Given the description of an element on the screen output the (x, y) to click on. 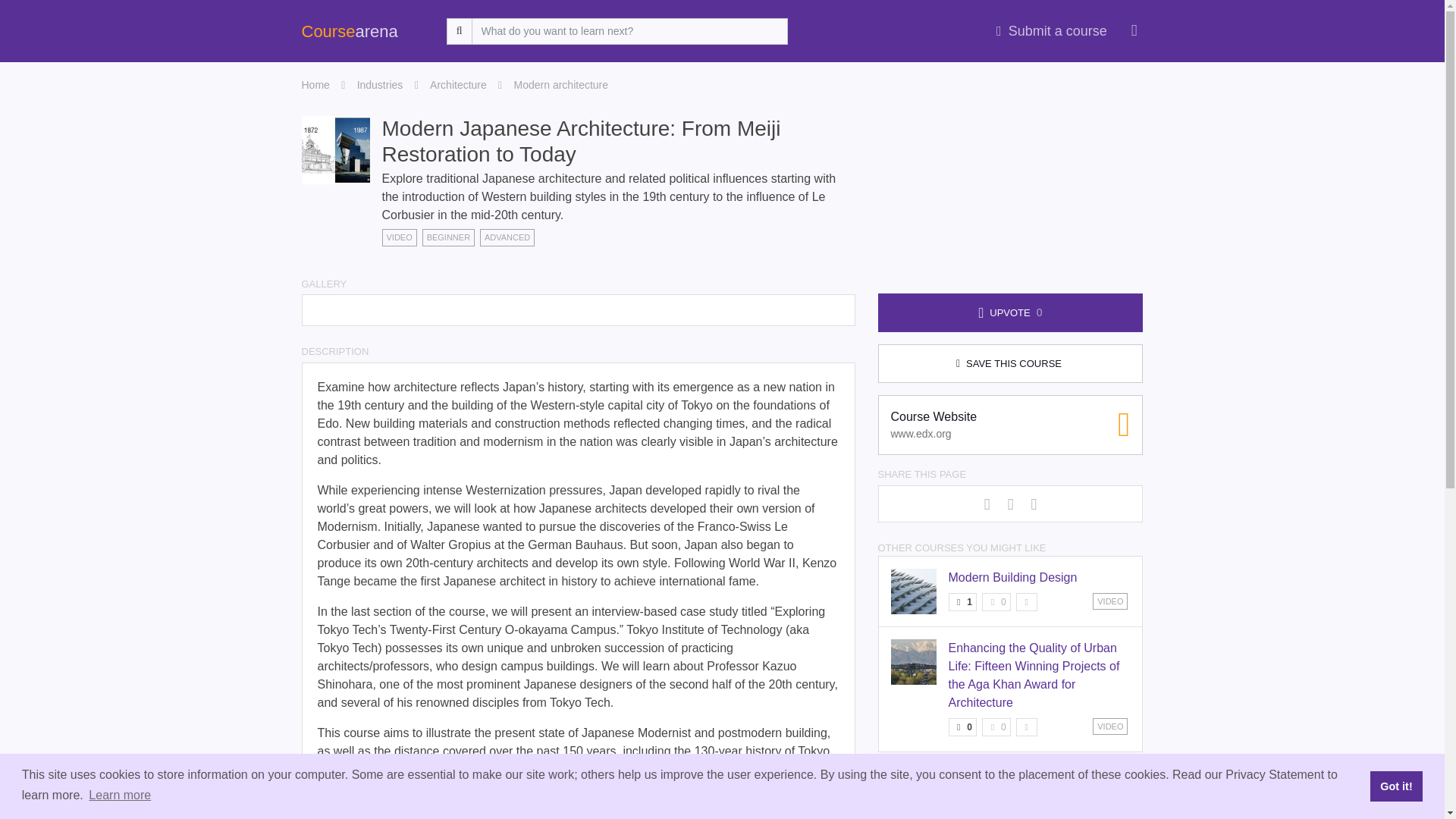
Modern architecture (560, 84)
Bookmark this course (1026, 727)
0 (1009, 424)
0 comments (995, 601)
0 (995, 727)
Industries (995, 727)
0 comments (379, 84)
Submit a course (995, 601)
Architecture (1051, 31)
0 Upvotes (457, 84)
Home (961, 727)
Modern Building Design (315, 84)
Bookmark this course (1012, 576)
Coursearena (1026, 601)
